Given the description of an element on the screen output the (x, y) to click on. 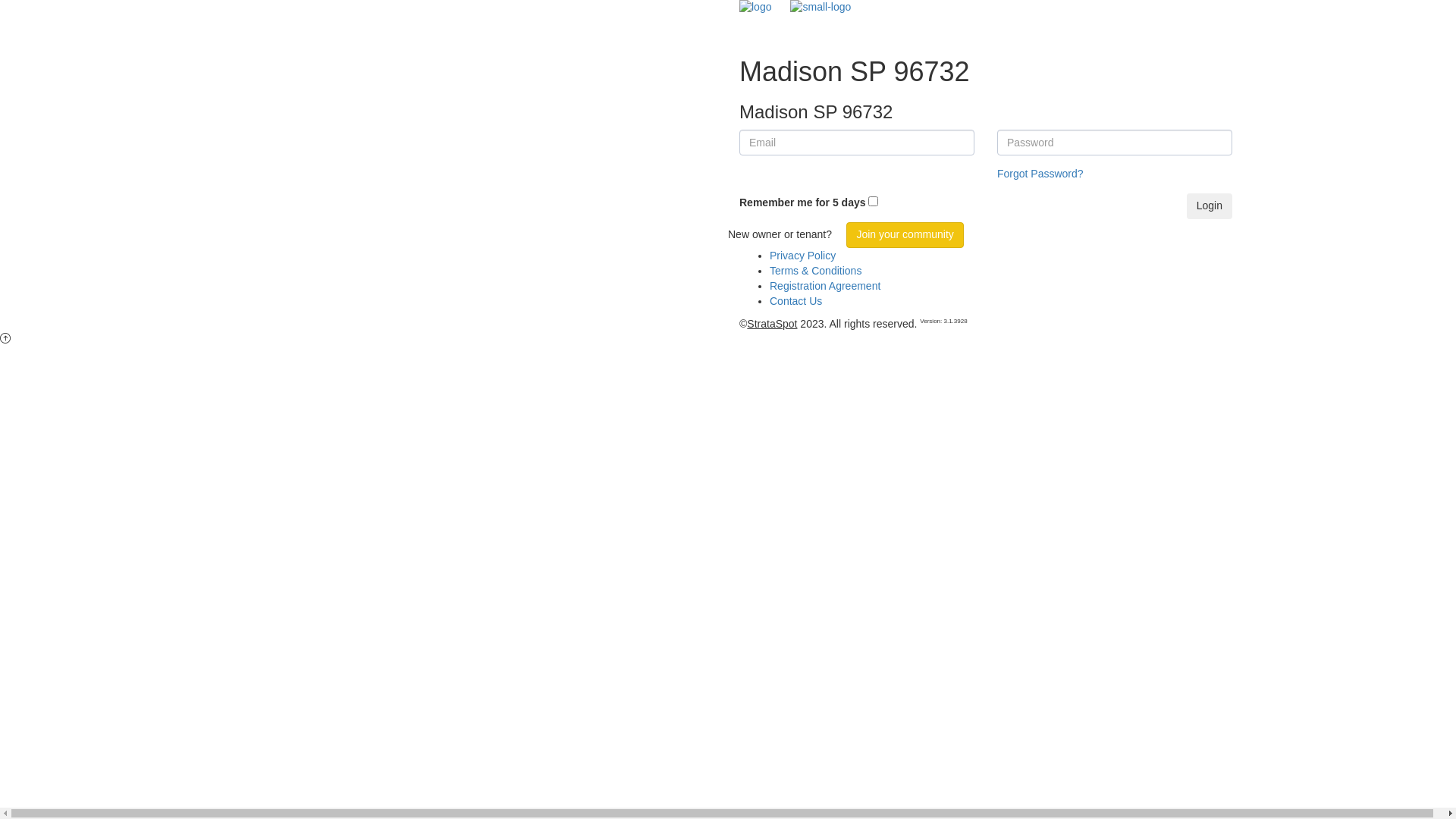
Contact Us Element type: text (795, 300)
Login Element type: text (1209, 206)
StrataSpot Element type: text (771, 323)
Forgot Password? Element type: text (1040, 173)
Privacy Policy Element type: text (802, 255)
Join your community Element type: text (904, 234)
Terms & Conditions Element type: text (815, 270)
Registration Agreement Element type: text (824, 285)
